Given the description of an element on the screen output the (x, y) to click on. 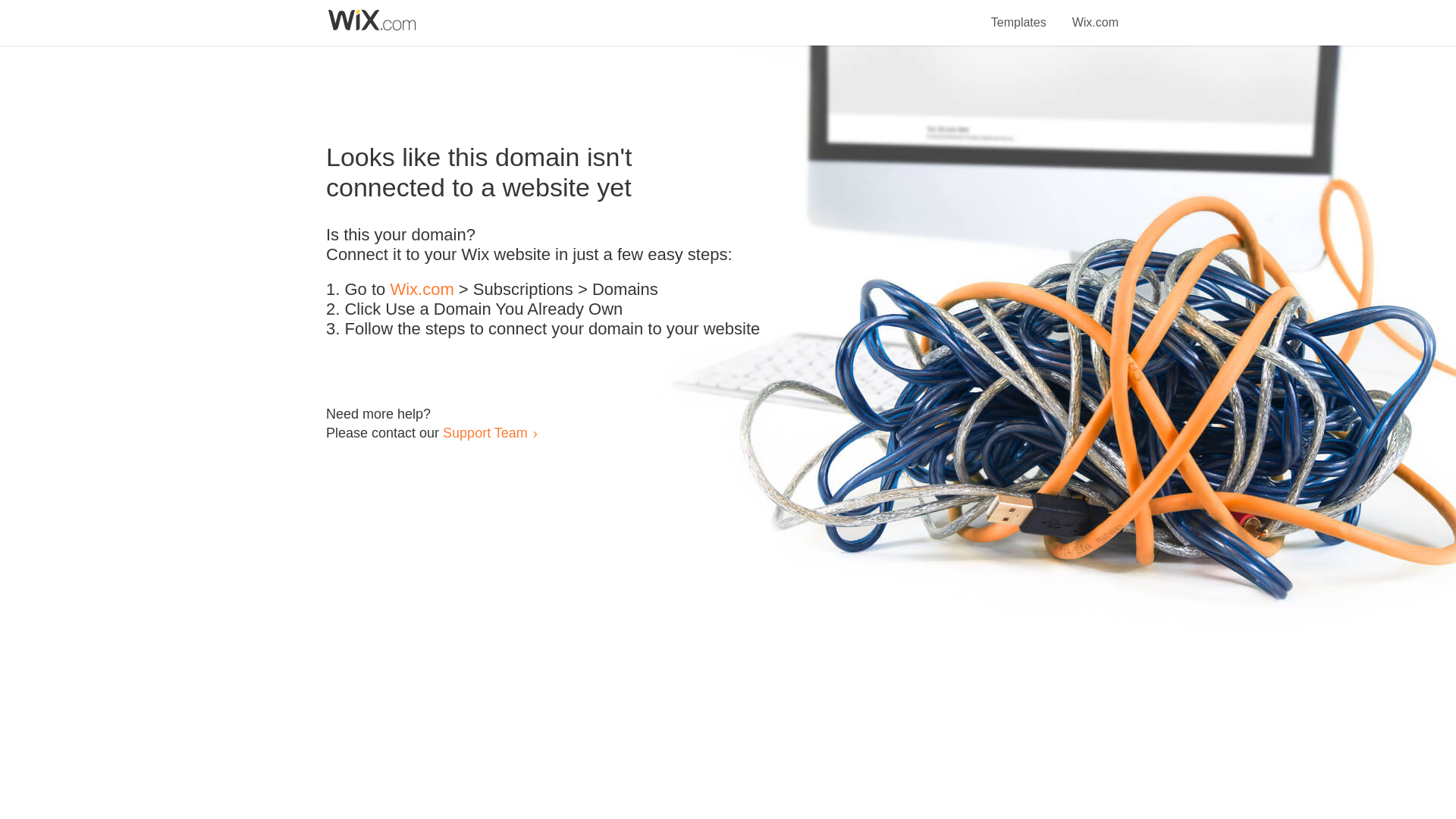
Support Team (484, 432)
Templates (1018, 14)
Wix.com (1095, 14)
Wix.com (421, 289)
